Given the description of an element on the screen output the (x, y) to click on. 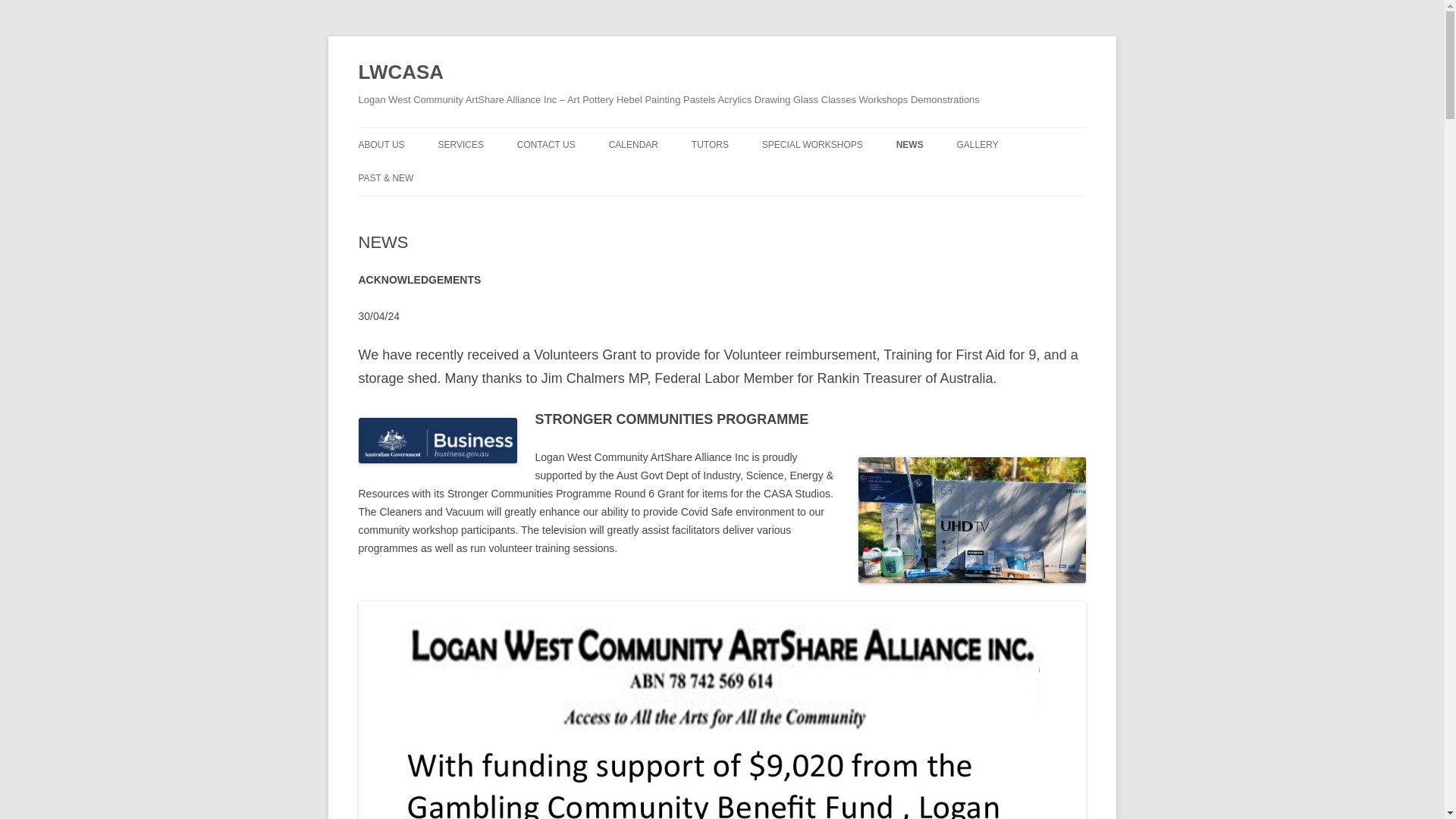
CALENDAR (633, 144)
SPECIAL WORKSHOPS (812, 144)
LWCASA (401, 72)
TUTORS (710, 144)
GALLERY (977, 144)
CONTACT US (545, 144)
SERVICES (460, 144)
ABOUT US (381, 144)
